Given the description of an element on the screen output the (x, y) to click on. 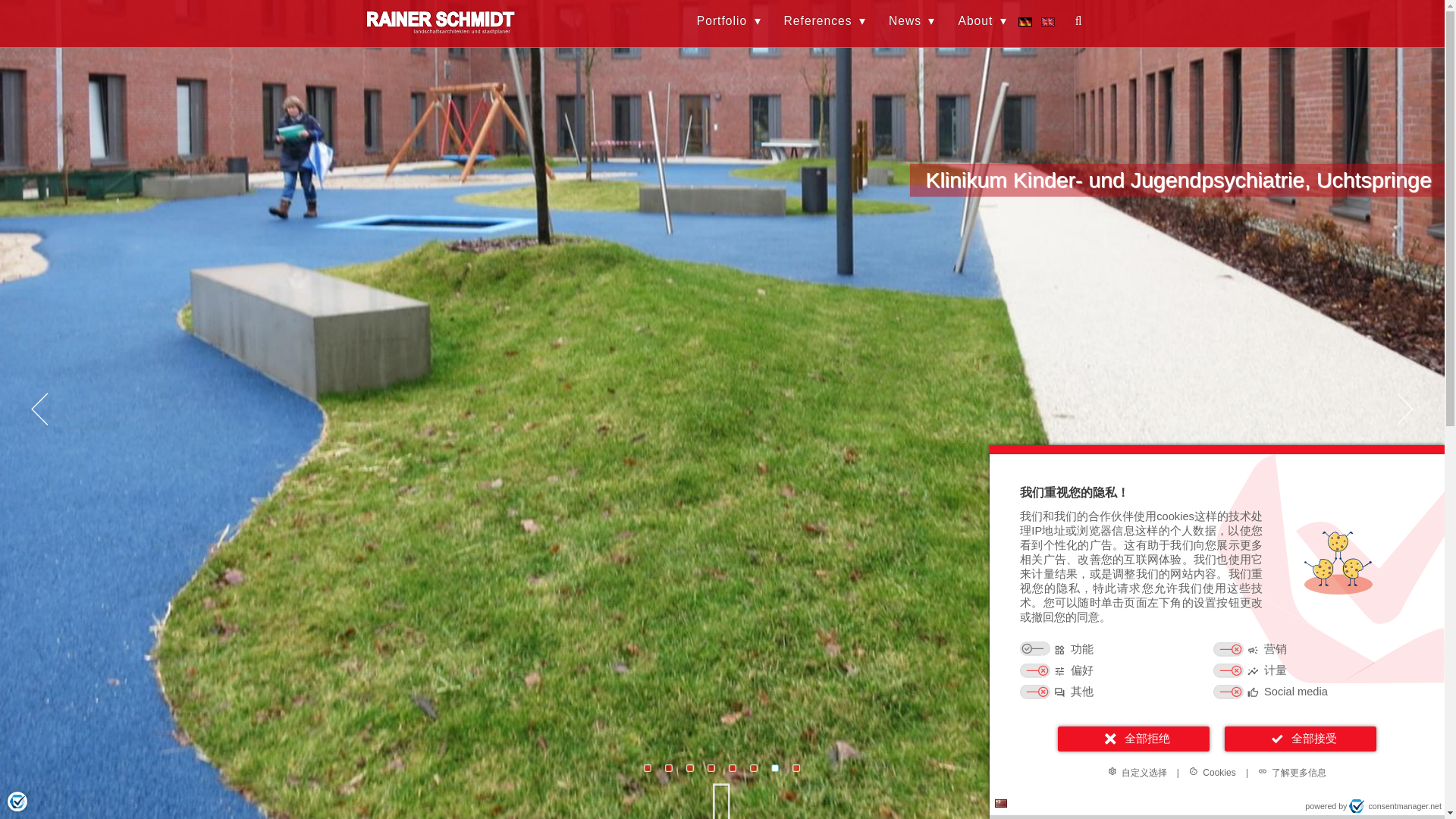
Language: zh (1000, 803)
News (912, 21)
References (825, 21)
Portfolio (729, 21)
Language: zh (1000, 803)
consentmanager.net (1395, 806)
About (981, 21)
Cookies (1211, 771)
